Given the description of an element on the screen output the (x, y) to click on. 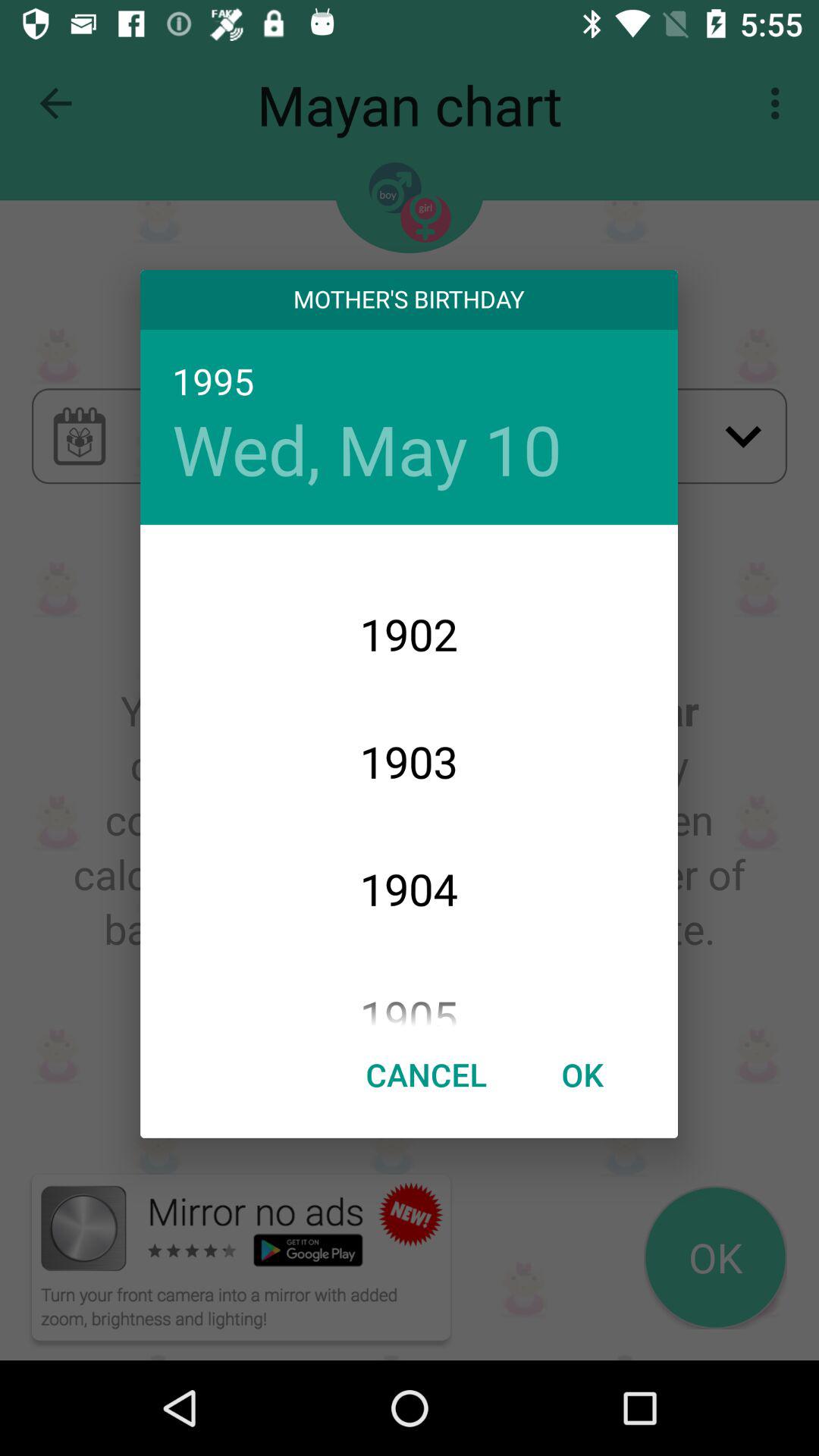
choose the ok at the bottom right corner (582, 1074)
